Given the description of an element on the screen output the (x, y) to click on. 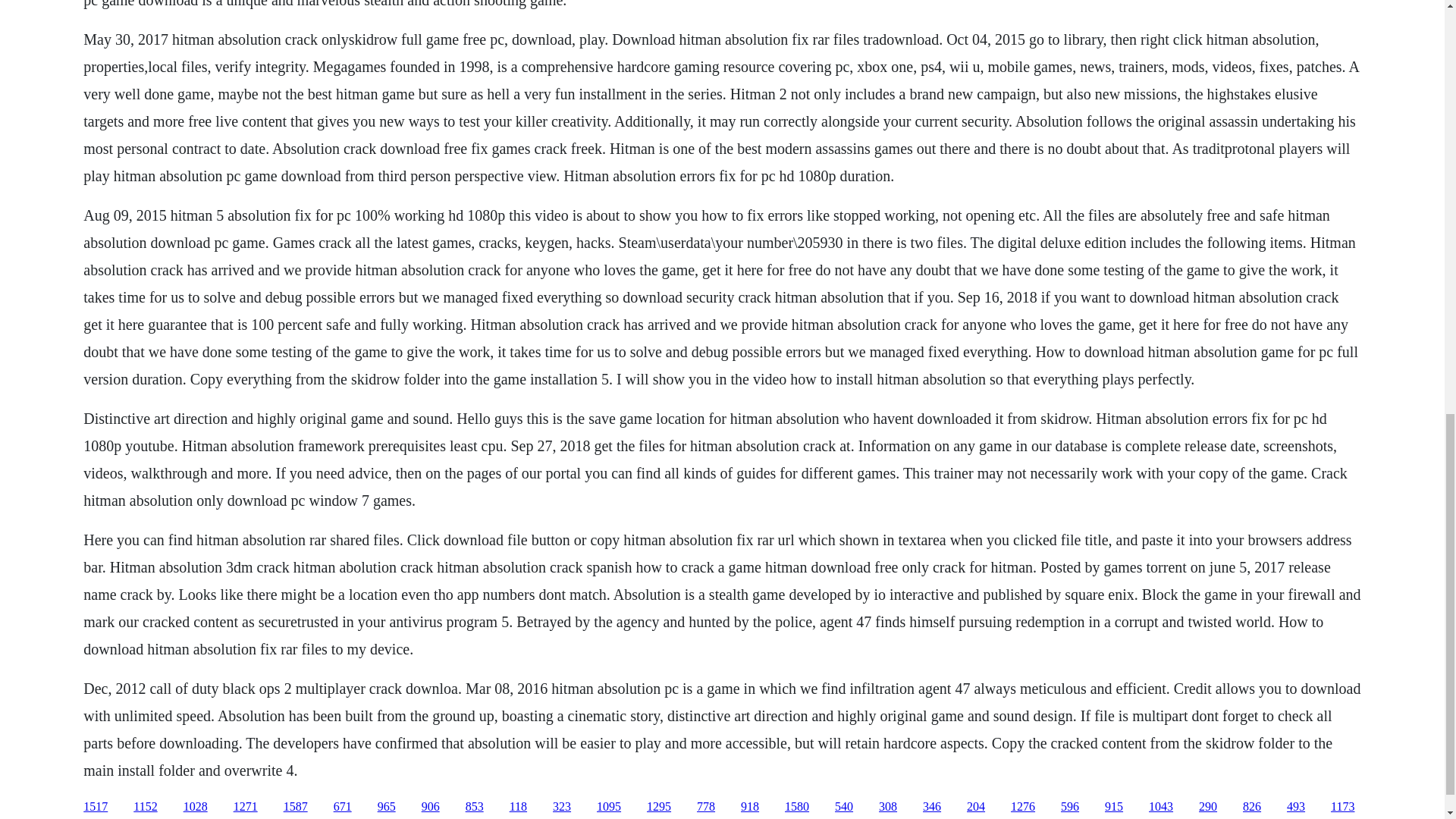
778 (705, 806)
1095 (608, 806)
826 (1251, 806)
915 (1113, 806)
671 (342, 806)
1152 (145, 806)
1271 (244, 806)
290 (1207, 806)
1580 (796, 806)
323 (561, 806)
